Given the description of an element on the screen output the (x, y) to click on. 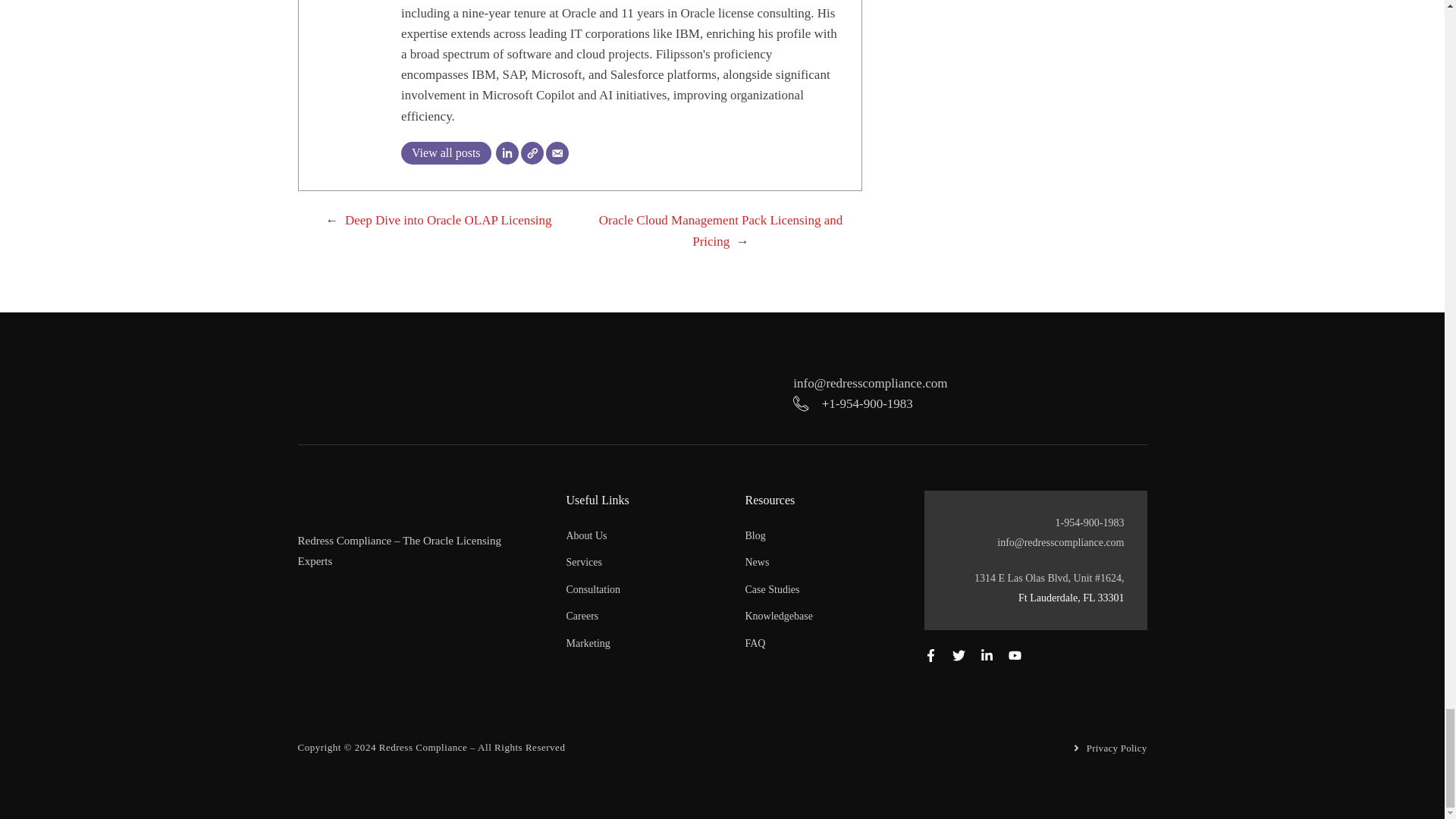
View all posts (446, 152)
